Given the description of an element on the screen output the (x, y) to click on. 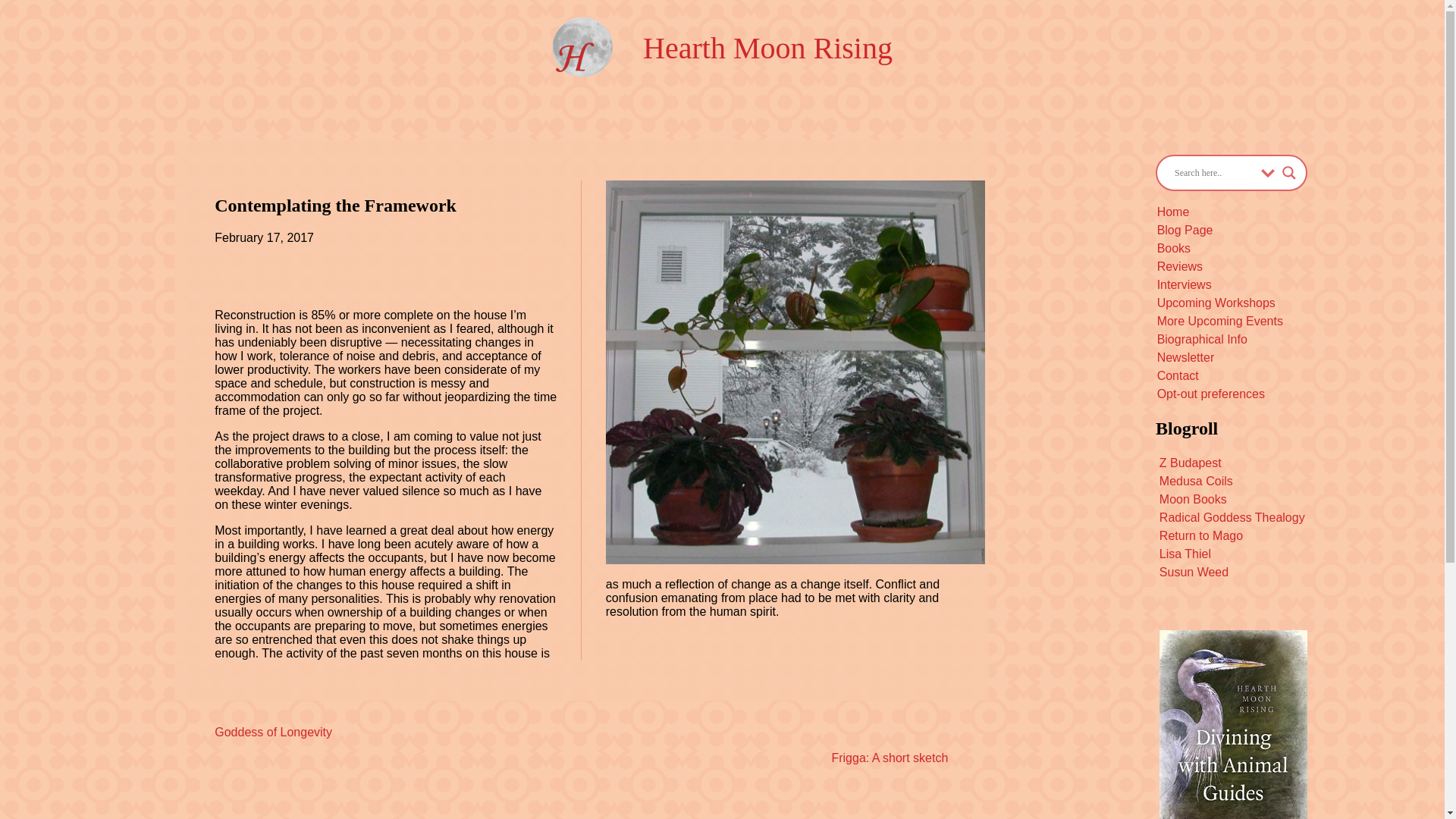
Z Budapest (1189, 462)
Lisa Thiel (1184, 553)
Home (1173, 211)
Medusa Coils (1195, 481)
Biographical Info (1202, 338)
Opt-out preferences (1211, 393)
Newsletter (1185, 357)
Susun Weed (1193, 571)
Blog Page (1184, 229)
Blog Page (1184, 229)
